Given the description of an element on the screen output the (x, y) to click on. 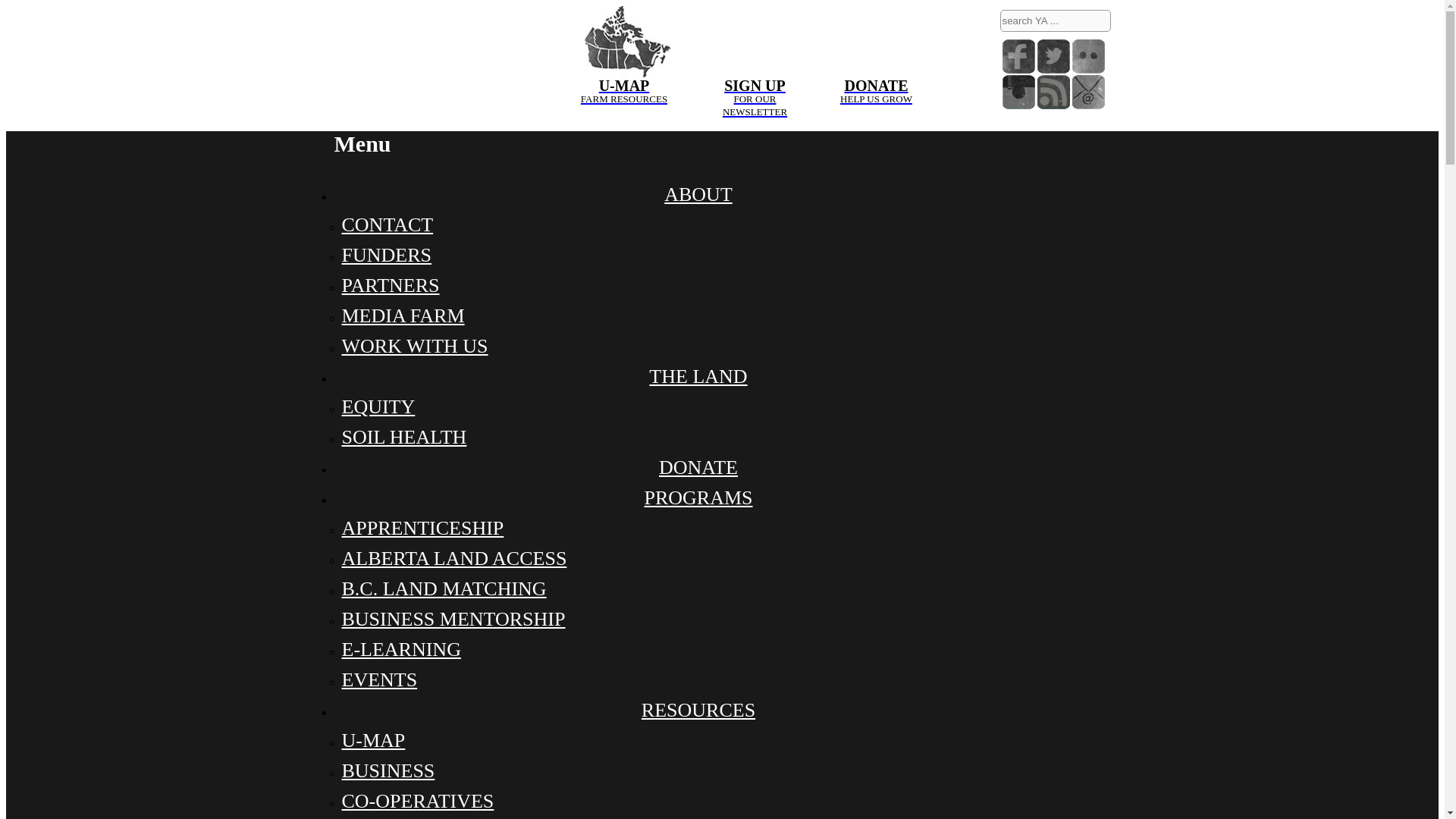
RSS (1053, 91)
Mail (1088, 91)
Flickr (623, 41)
Facebook (1088, 56)
Twitter (1019, 56)
Instagram (1053, 56)
